Given the description of an element on the screen output the (x, y) to click on. 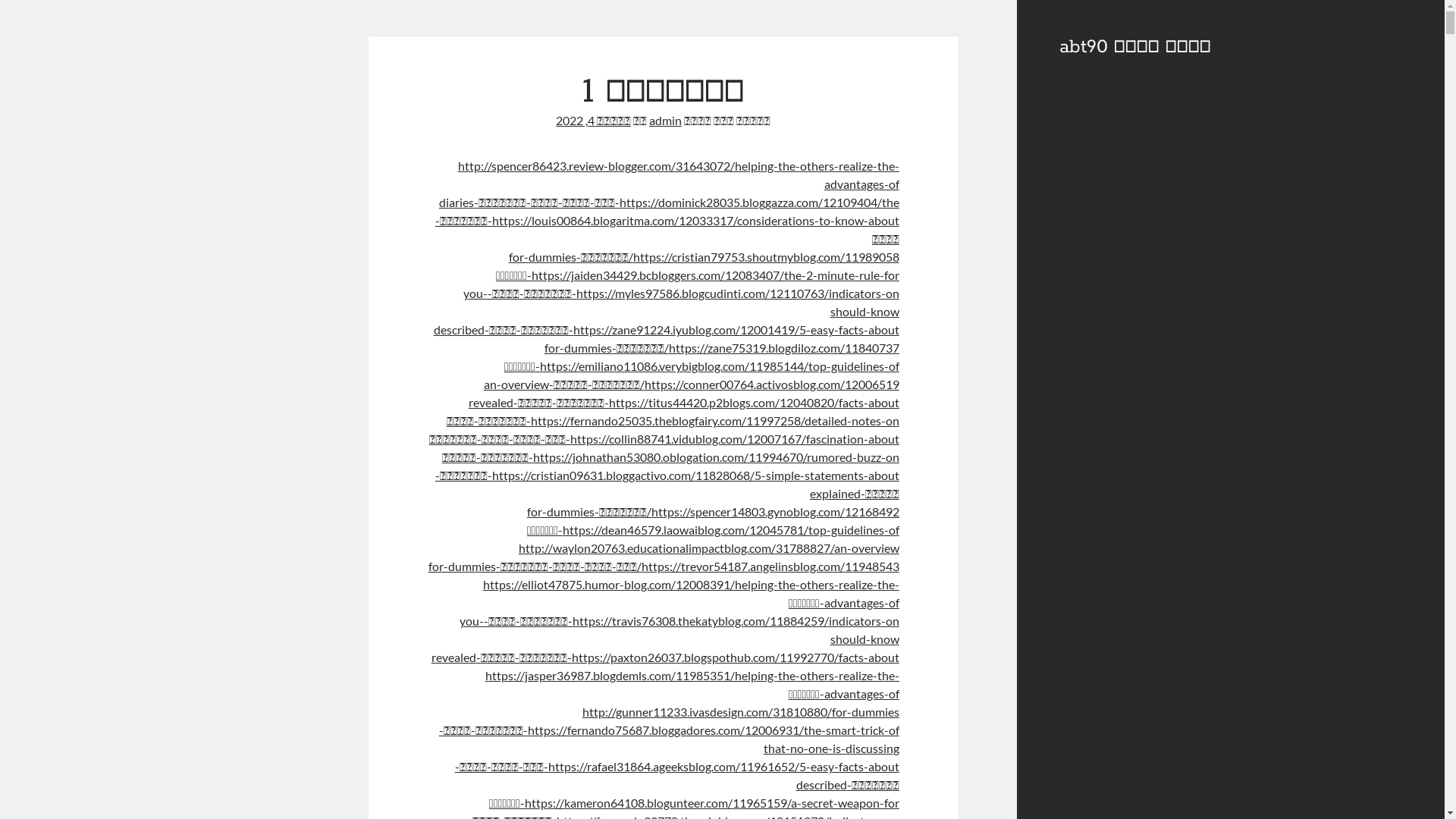
admin Element type: text (665, 119)
http://gunner11233.ivasdesign.com/31810880/for-dummies Element type: text (740, 711)
